Given the description of an element on the screen output the (x, y) to click on. 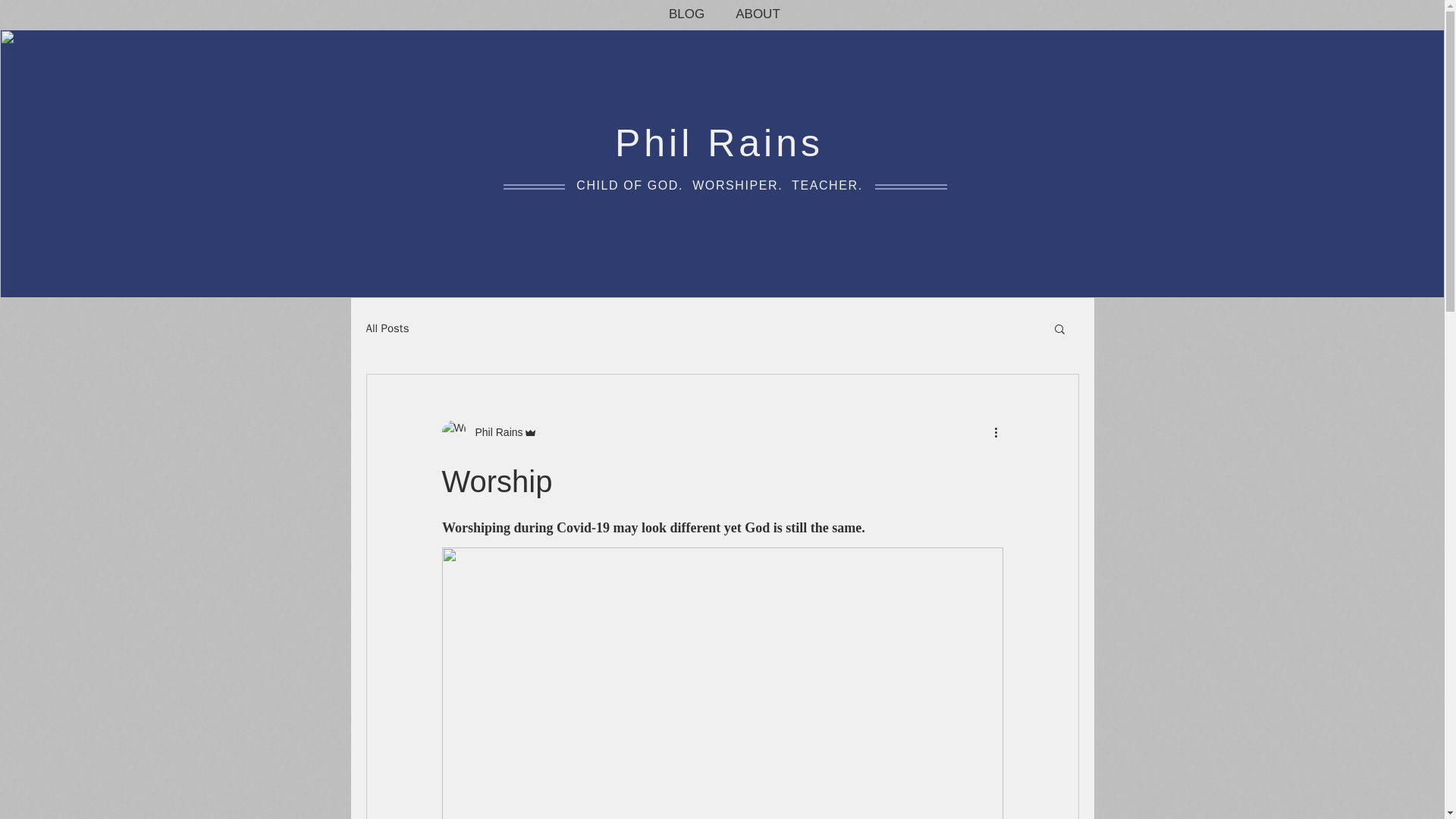
ABOUT (757, 14)
BLOG (686, 14)
All Posts (387, 328)
Phil Rains (493, 432)
CHILD OF GOD.  WORSHIPER.  TEACHER. (719, 185)
Phil Rains (719, 143)
